Given the description of an element on the screen output the (x, y) to click on. 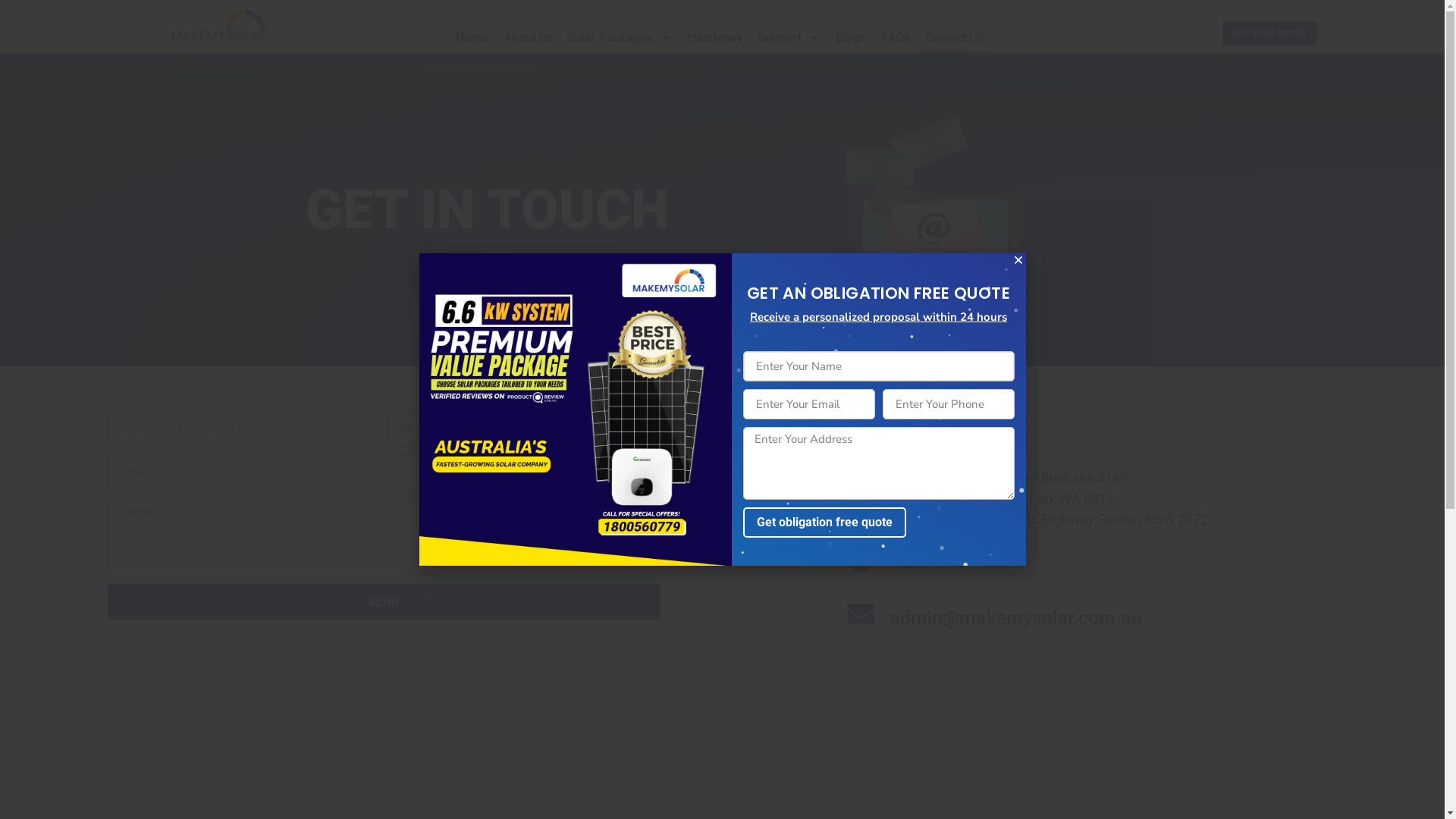
admin@makemysolar.com.au Element type: text (1015, 617)
About us Element type: text (527, 37)
GET BEST QUOTE Element type: text (1269, 33)
FAQs Element type: text (895, 37)
Support Element type: text (788, 37)
1800 560 779 Element type: text (946, 561)
Home Element type: text (471, 37)
SEND Element type: text (383, 601)
Get obligation free quote Element type: text (824, 522)
Blogs Element type: text (850, 37)
Handypay Element type: text (714, 37)
Solar Packages Element type: text (619, 37)
Contact Us Element type: text (954, 37)
